Given the description of an element on the screen output the (x, y) to click on. 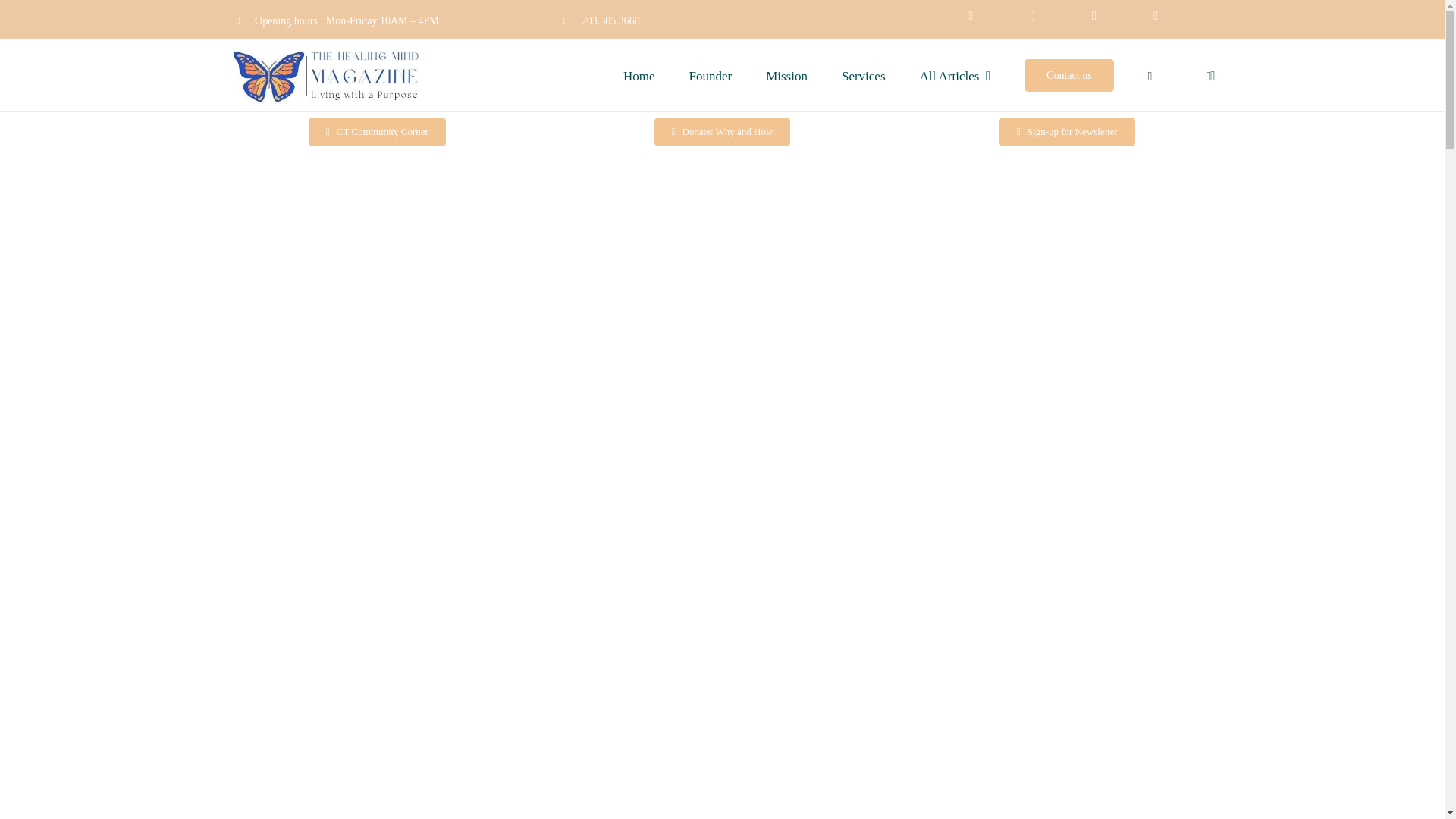
Sign-up for Newsletter (1066, 131)
All Articles (955, 75)
CT Community Corner (376, 131)
Donate: Why and How (721, 131)
Log In (1363, 247)
Contact us (1069, 75)
